Given the description of an element on the screen output the (x, y) to click on. 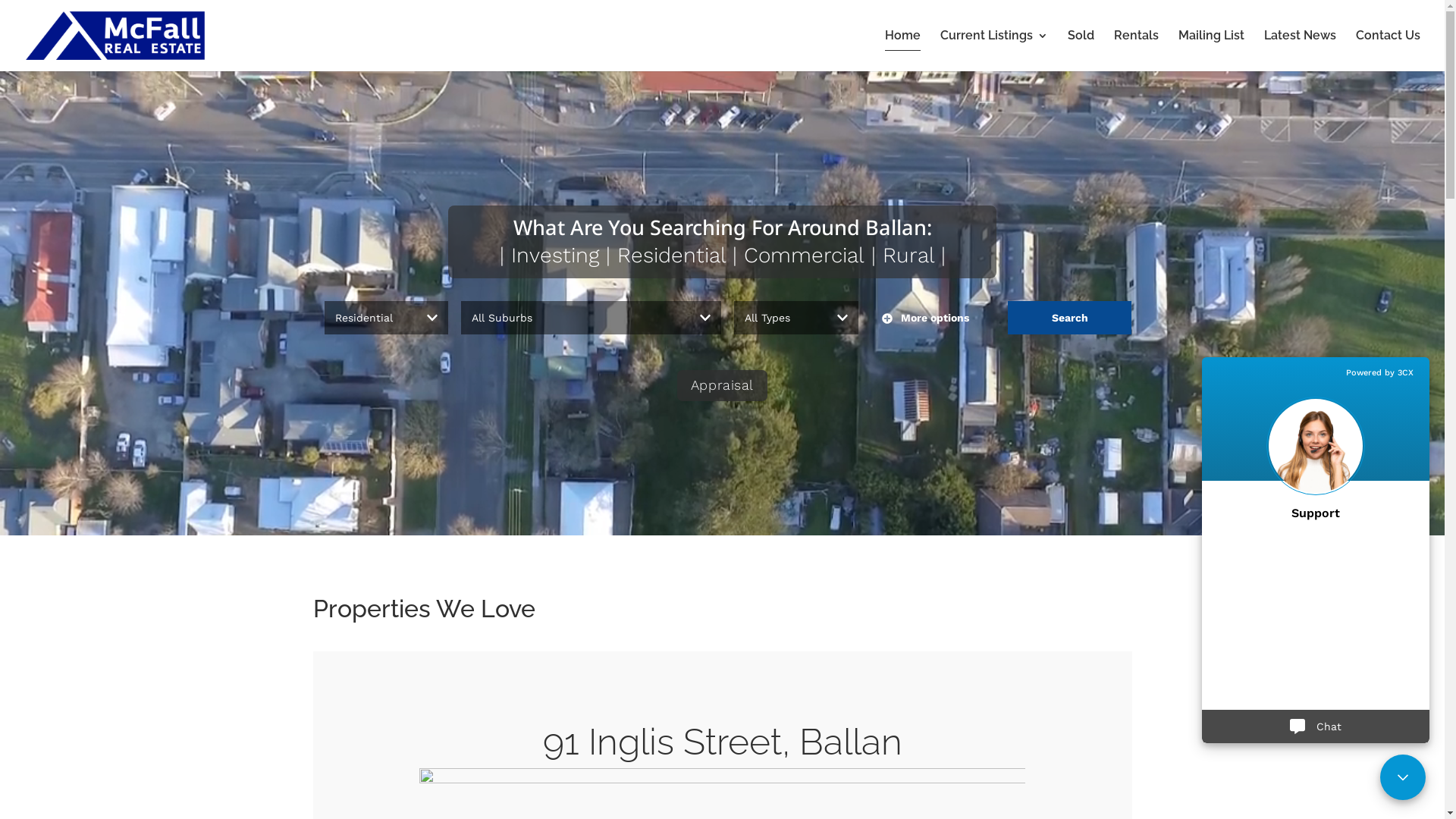
Appraisal Element type: text (722, 385)
Home Element type: text (902, 50)
Latest News Element type: text (1300, 50)
Mailing List Element type: text (1211, 50)
Residential Element type: text (671, 254)
Sold Element type: text (1080, 50)
Contact Us Element type: text (1387, 50)
More options Element type: text (932, 318)
Commercial Element type: text (803, 254)
Investing Element type: text (555, 254)
Current Listings Element type: text (994, 50)
Rentals Element type: text (1135, 50)
Search Element type: text (1069, 317)
91 Inglis Street, Ballan Element type: text (722, 741)
Rural Element type: text (908, 254)
